Given the description of an element on the screen output the (x, y) to click on. 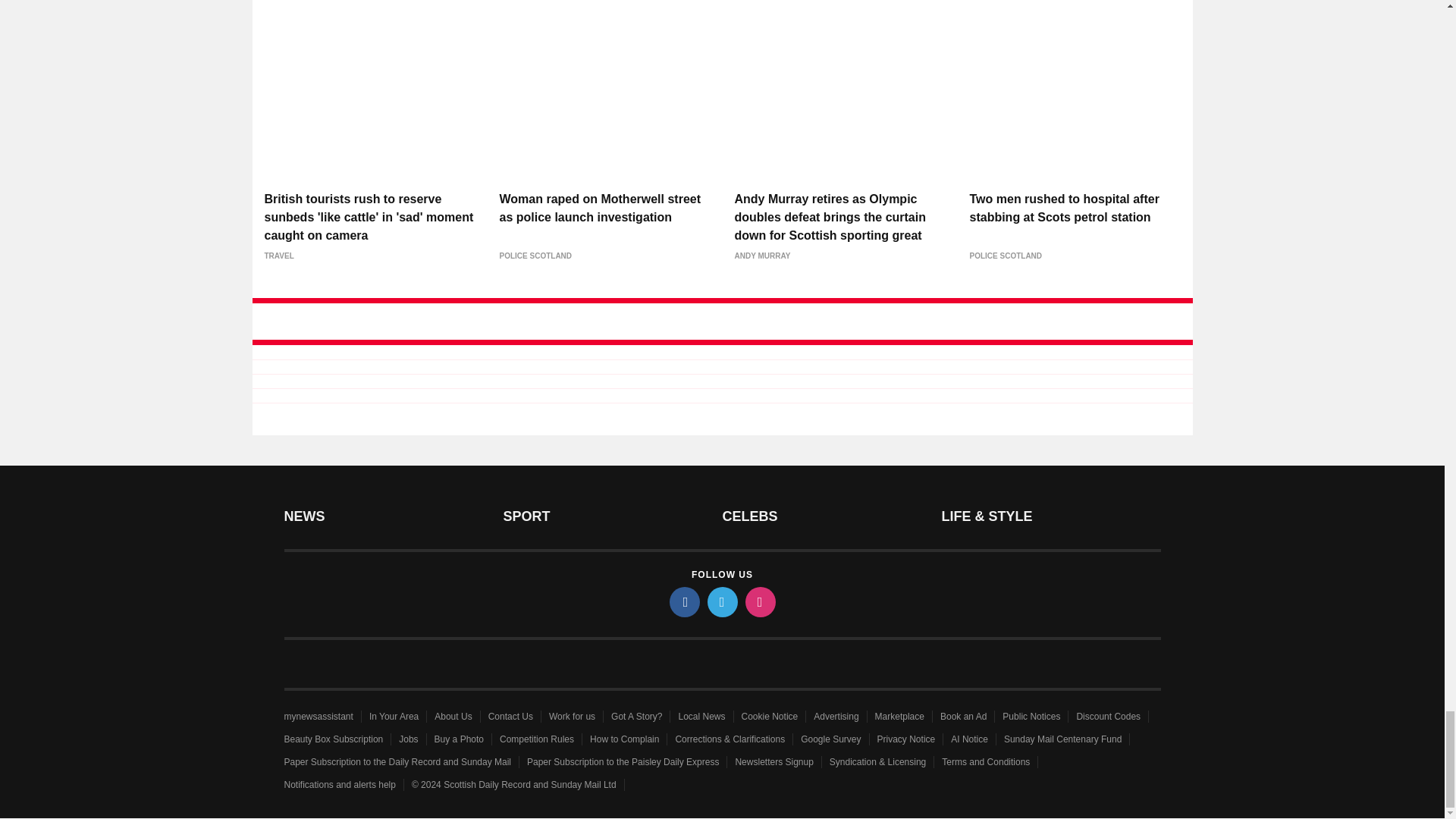
facebook (683, 602)
instagram (759, 602)
twitter (721, 602)
